Given the description of an element on the screen output the (x, y) to click on. 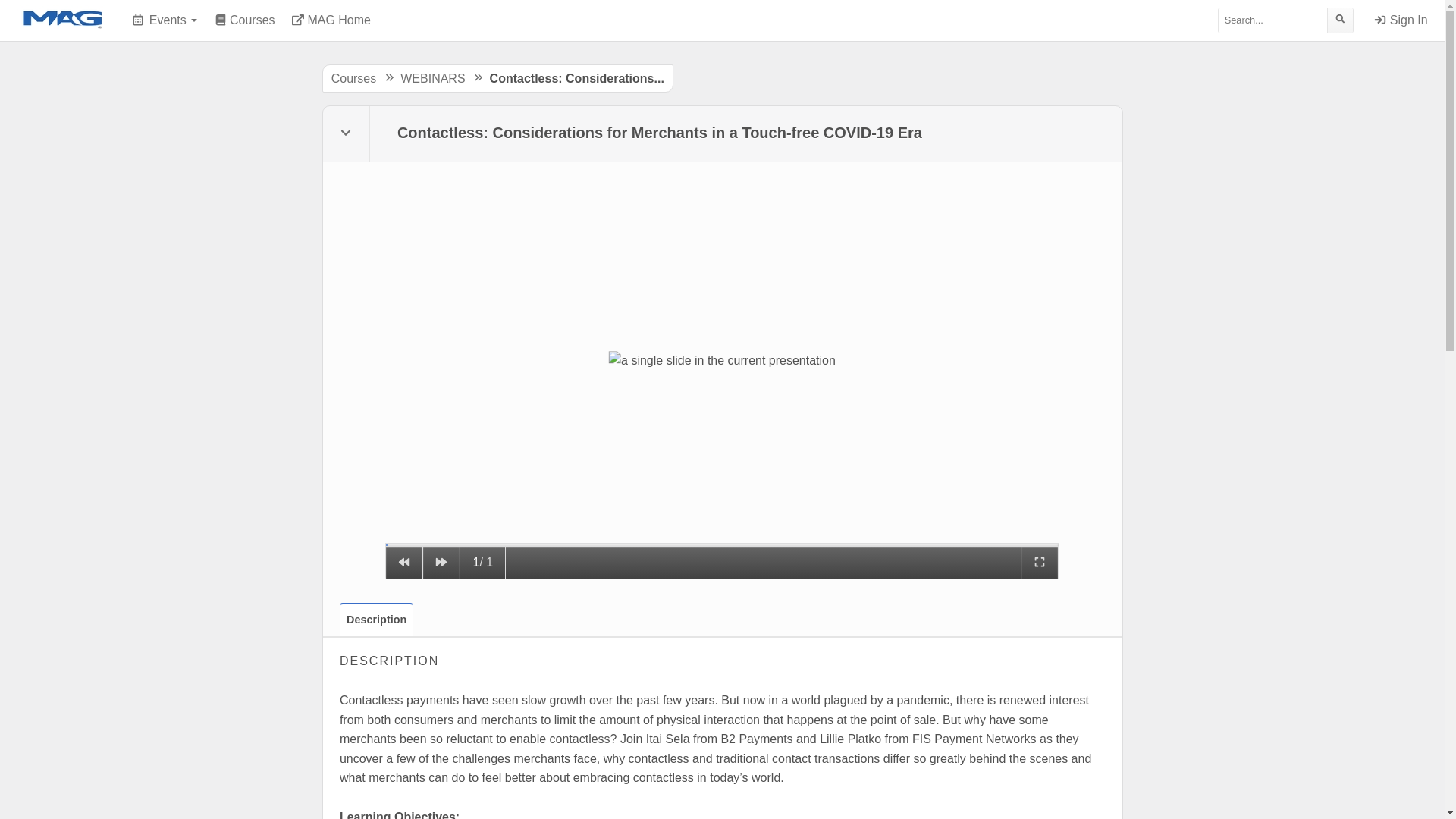
Courses (244, 20)
Events (165, 20)
Events (165, 20)
Courses (244, 20)
Sign In (1401, 20)
Full Screen (1040, 562)
Courses (354, 78)
Next Slide (441, 562)
WEBINARS (432, 78)
Merchant Advisory Group (62, 20)
